Given the description of an element on the screen output the (x, y) to click on. 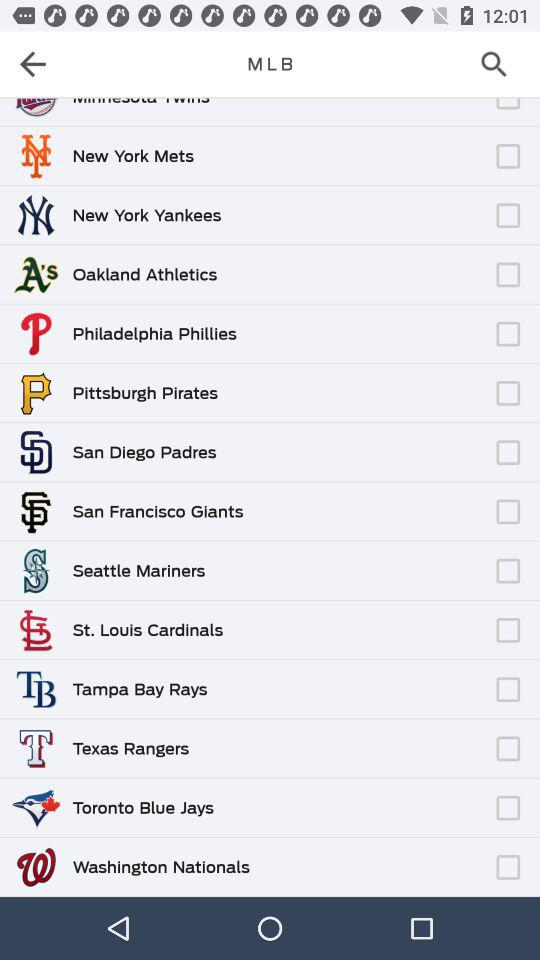
jump to the oakland athletics item (144, 274)
